Given the description of an element on the screen output the (x, y) to click on. 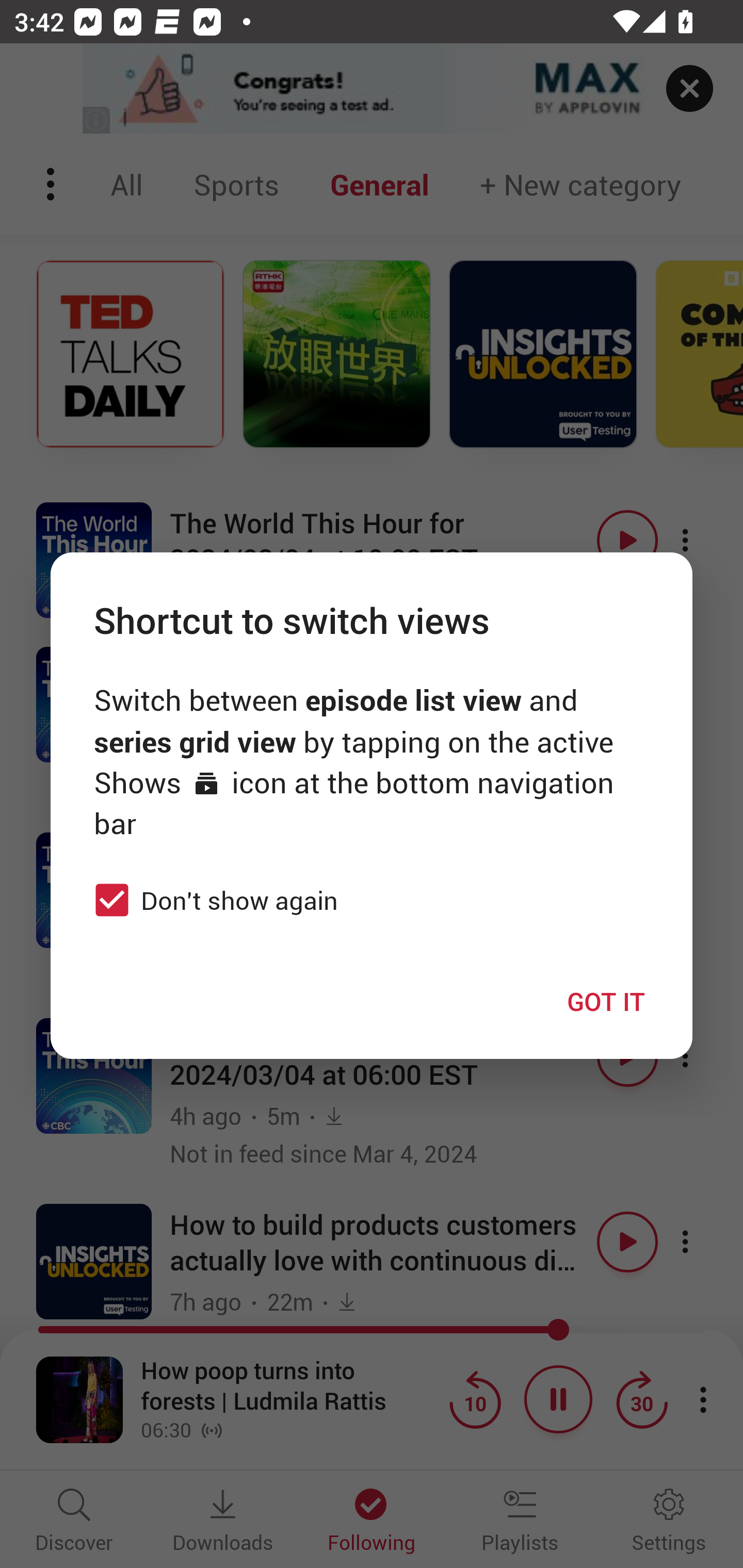
Don't show again (210, 899)
GOT IT (605, 1001)
